Given the description of an element on the screen output the (x, y) to click on. 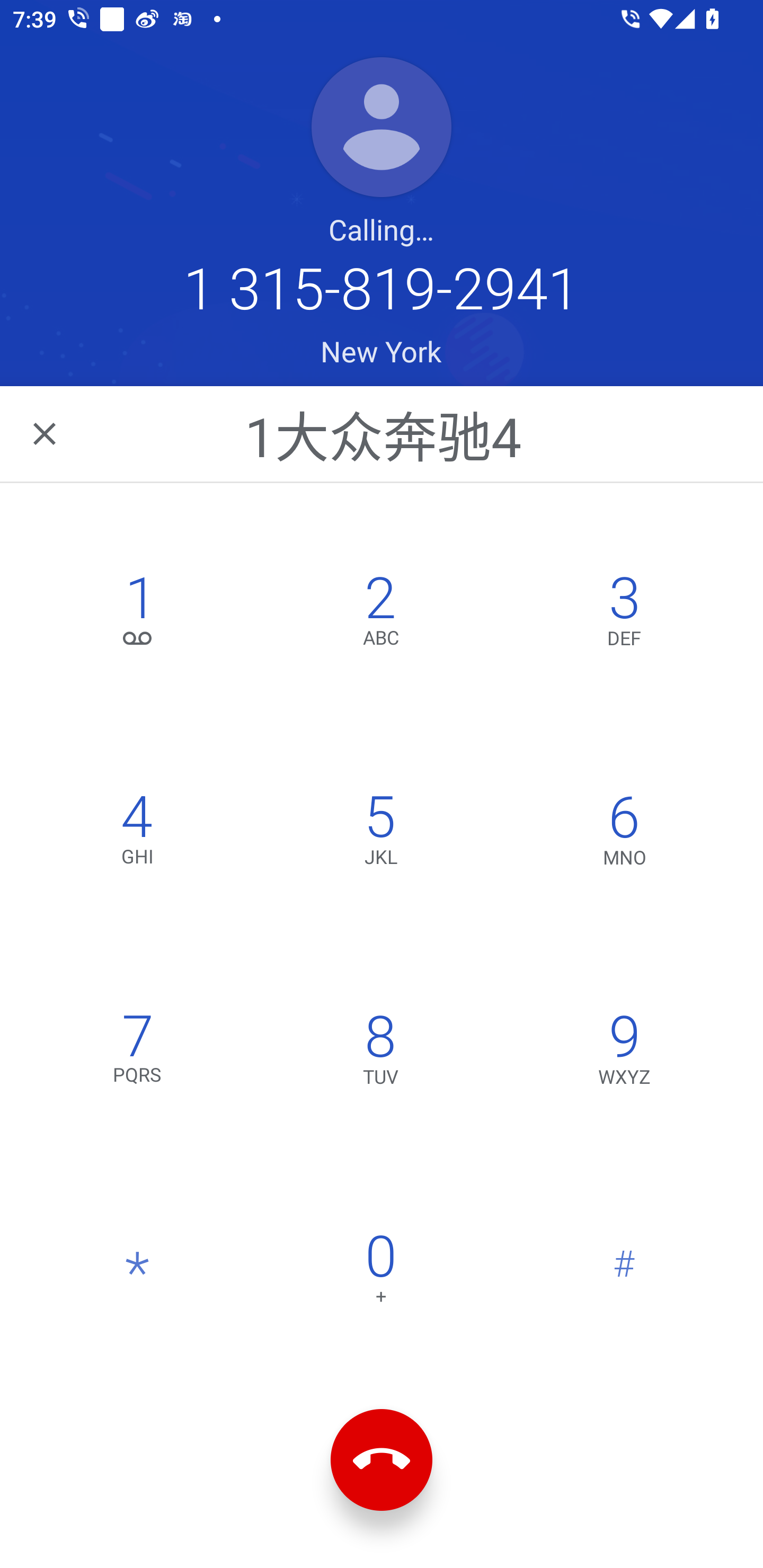
1大众奔驰4 (382, 433)
Navigate back (45, 433)
1, 1 (137, 614)
2,ABC 2 ABC (380, 614)
3,DEF 3 DEF (624, 614)
4,GHI 4 GHI (137, 833)
5,JKL 5 JKL (380, 833)
6,MNO 6 MNO (624, 833)
7,PQRS 7 PQRS (137, 1053)
8,TUV 8 TUV (380, 1053)
9,WXYZ 9 WXYZ (624, 1053)
* (137, 1272)
0 0 + (380, 1272)
# (624, 1272)
End call (381, 1460)
